Given the description of an element on the screen output the (x, y) to click on. 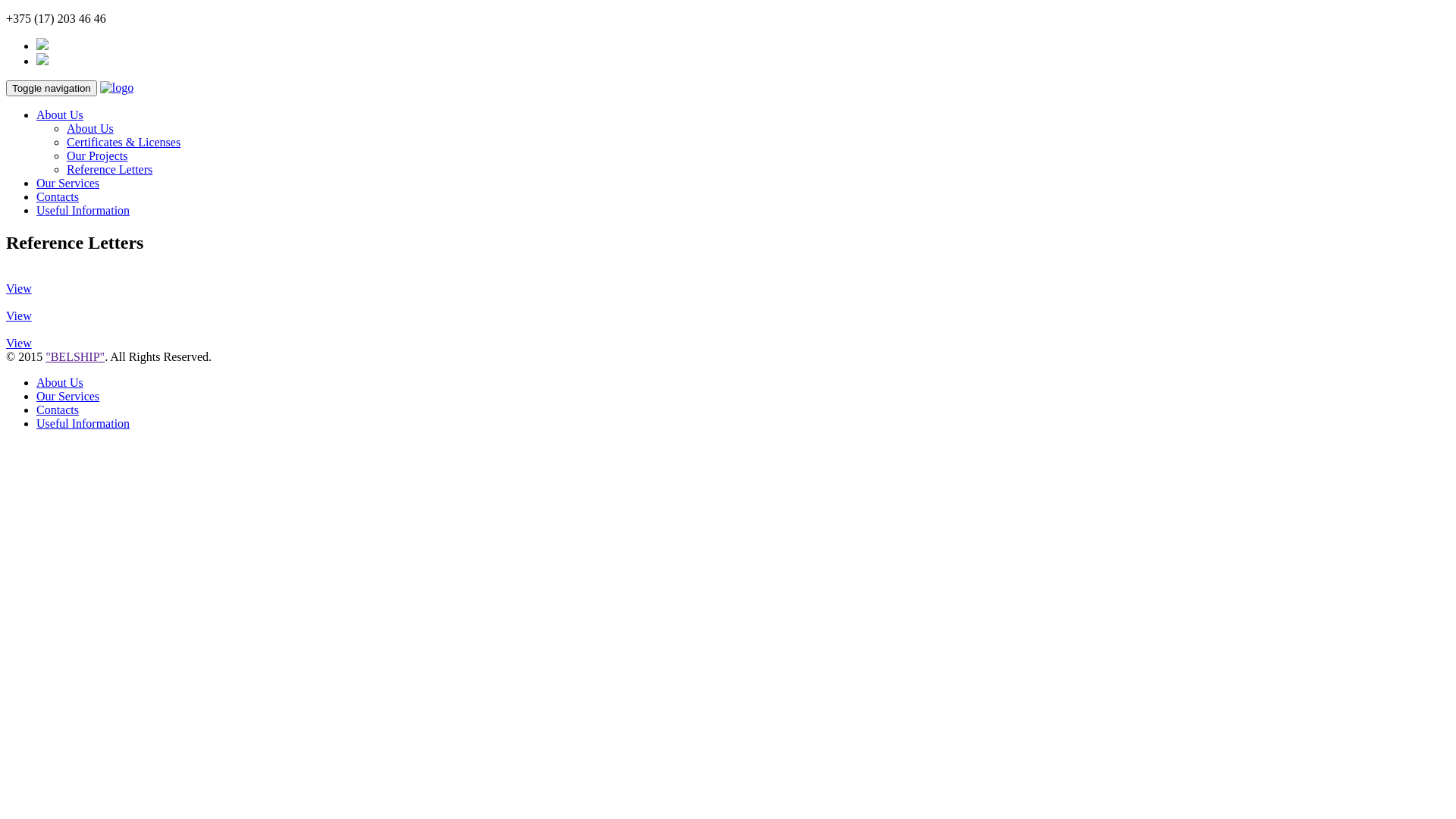
Reference Letters Element type: text (109, 169)
Contacts Element type: text (57, 409)
Toggle navigation Element type: text (51, 88)
Our Services Element type: text (67, 395)
View Element type: text (18, 342)
Our Projects Element type: text (96, 155)
Our Services Element type: text (67, 182)
"BELSHIP" Element type: text (74, 356)
Useful Information Element type: text (82, 209)
View Element type: text (18, 288)
About Us Element type: text (89, 128)
About Us Element type: text (59, 382)
View Element type: text (18, 315)
Certificates & Licenses Element type: text (123, 141)
Contacts Element type: text (57, 196)
Useful Information Element type: text (82, 423)
About Us Element type: text (59, 114)
